Given the description of an element on the screen output the (x, y) to click on. 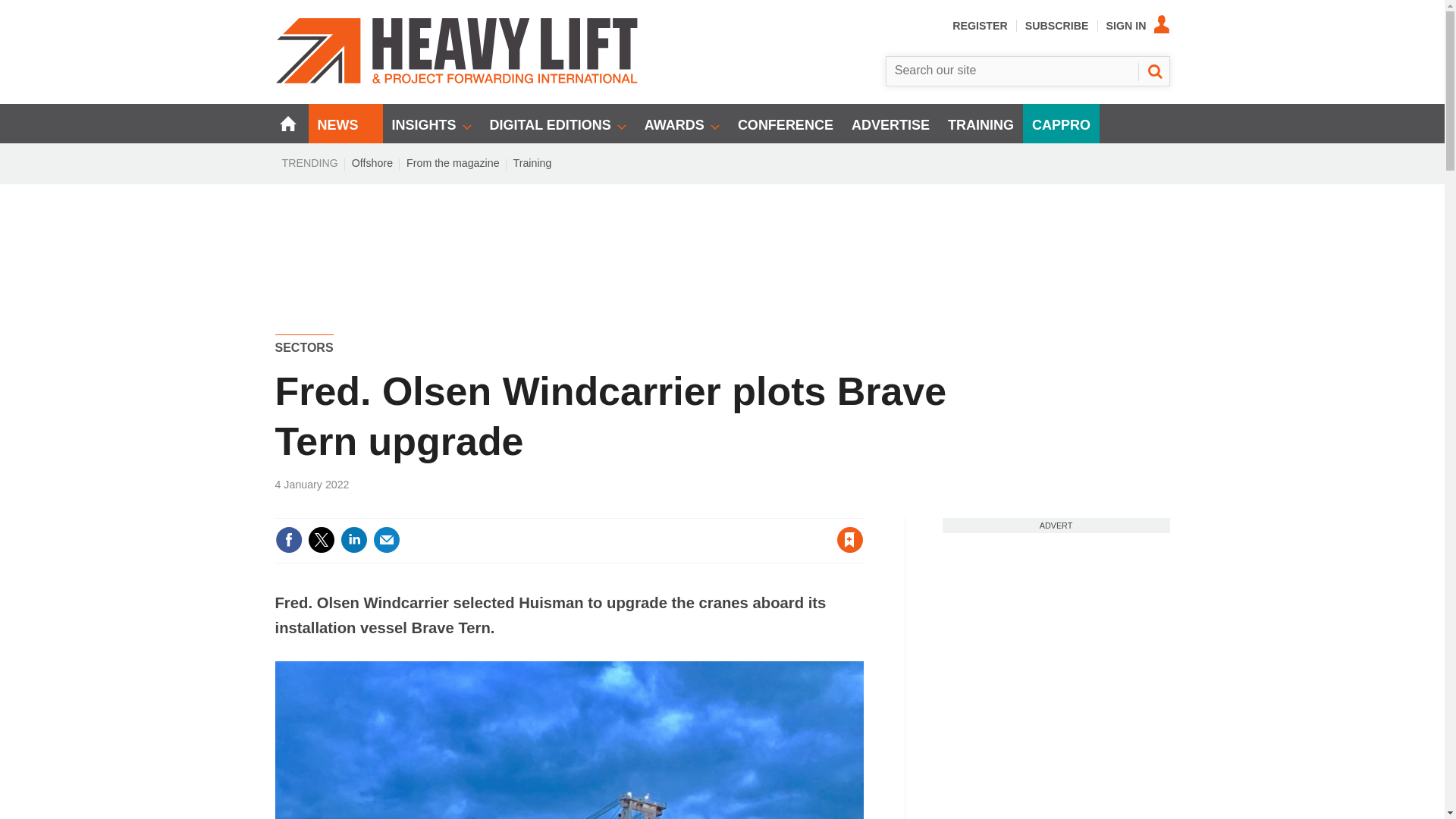
3rd party ad content (722, 236)
Email this article (386, 539)
SIGN IN (1138, 25)
3rd party ad content (1055, 627)
From the magazine (452, 162)
Training (532, 162)
REGISTER (979, 25)
SUBSCRIBE (1057, 25)
Share this on Twitter (320, 539)
SEARCH (1153, 70)
Share this on Linked in (352, 539)
Site name (457, 80)
Offshore (371, 162)
Share this on Facebook (288, 539)
